Given the description of an element on the screen output the (x, y) to click on. 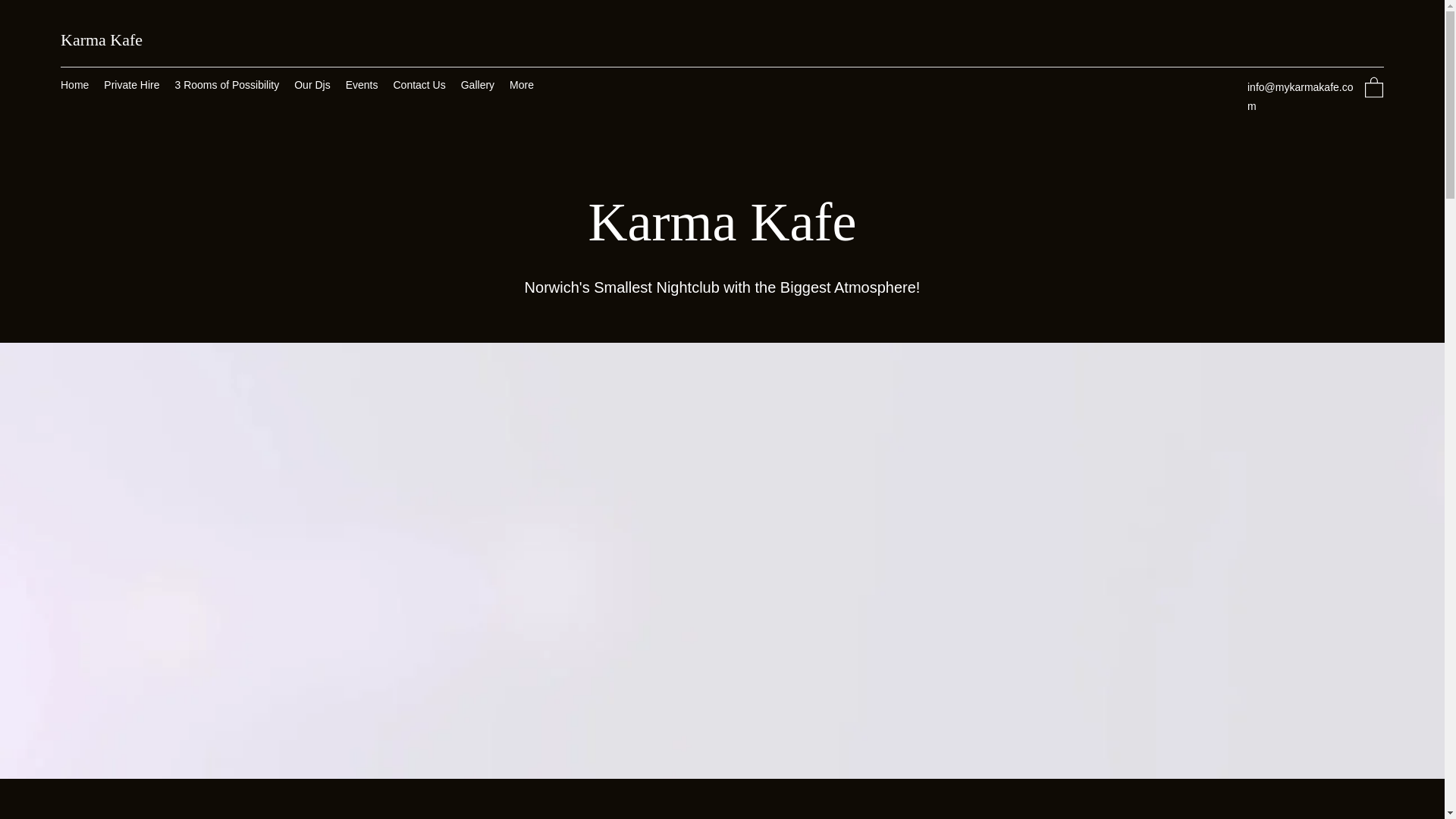
Our Djs (311, 87)
Gallery (477, 87)
3 Rooms of Possibility (226, 87)
Events (361, 87)
Home (74, 87)
Contact Us (418, 87)
Private Hire (131, 87)
Karma Kafe (101, 39)
